Given the description of an element on the screen output the (x, y) to click on. 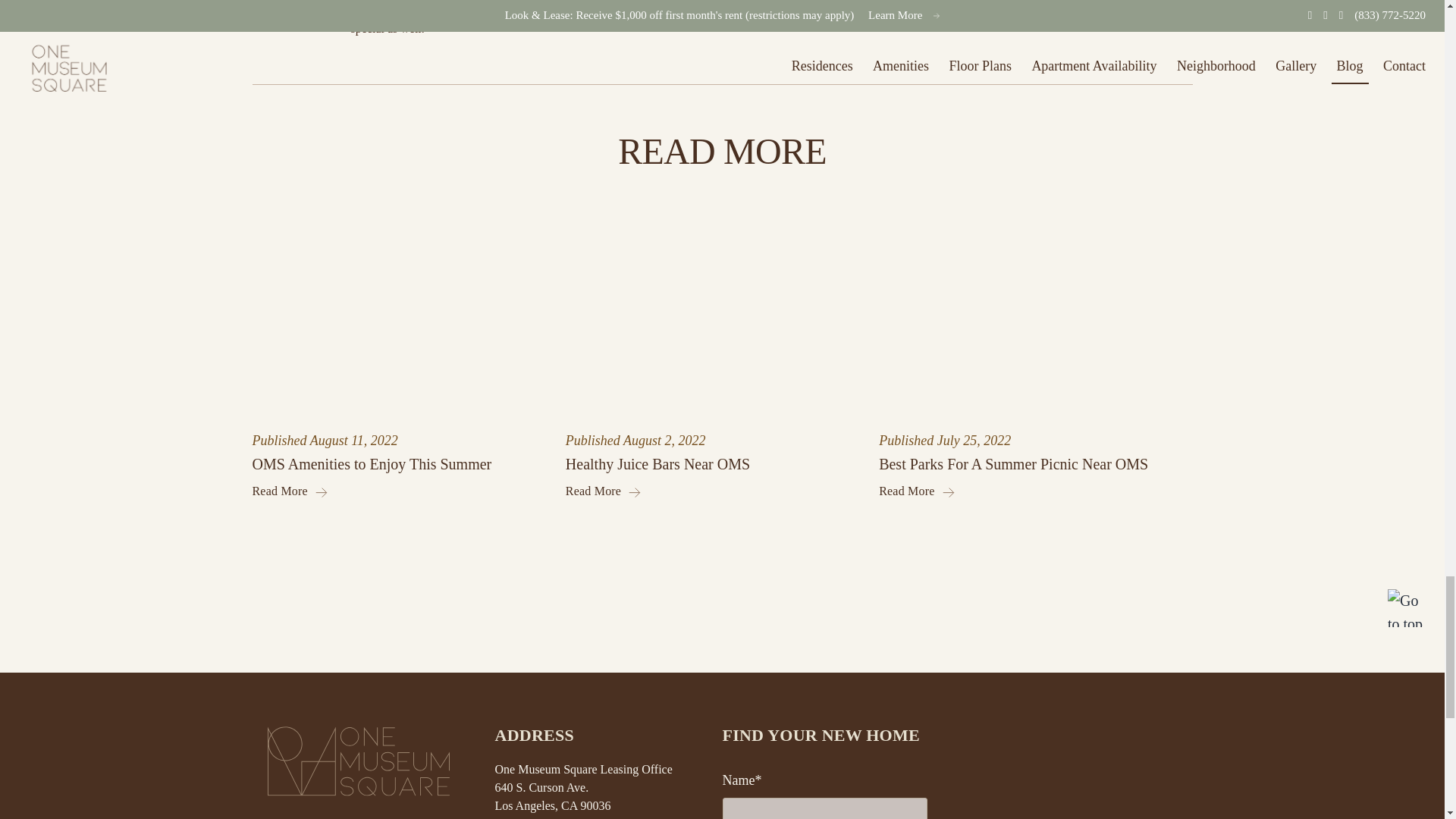
Read More (1035, 490)
Read More (396, 490)
Read More (711, 490)
